Given the description of an element on the screen output the (x, y) to click on. 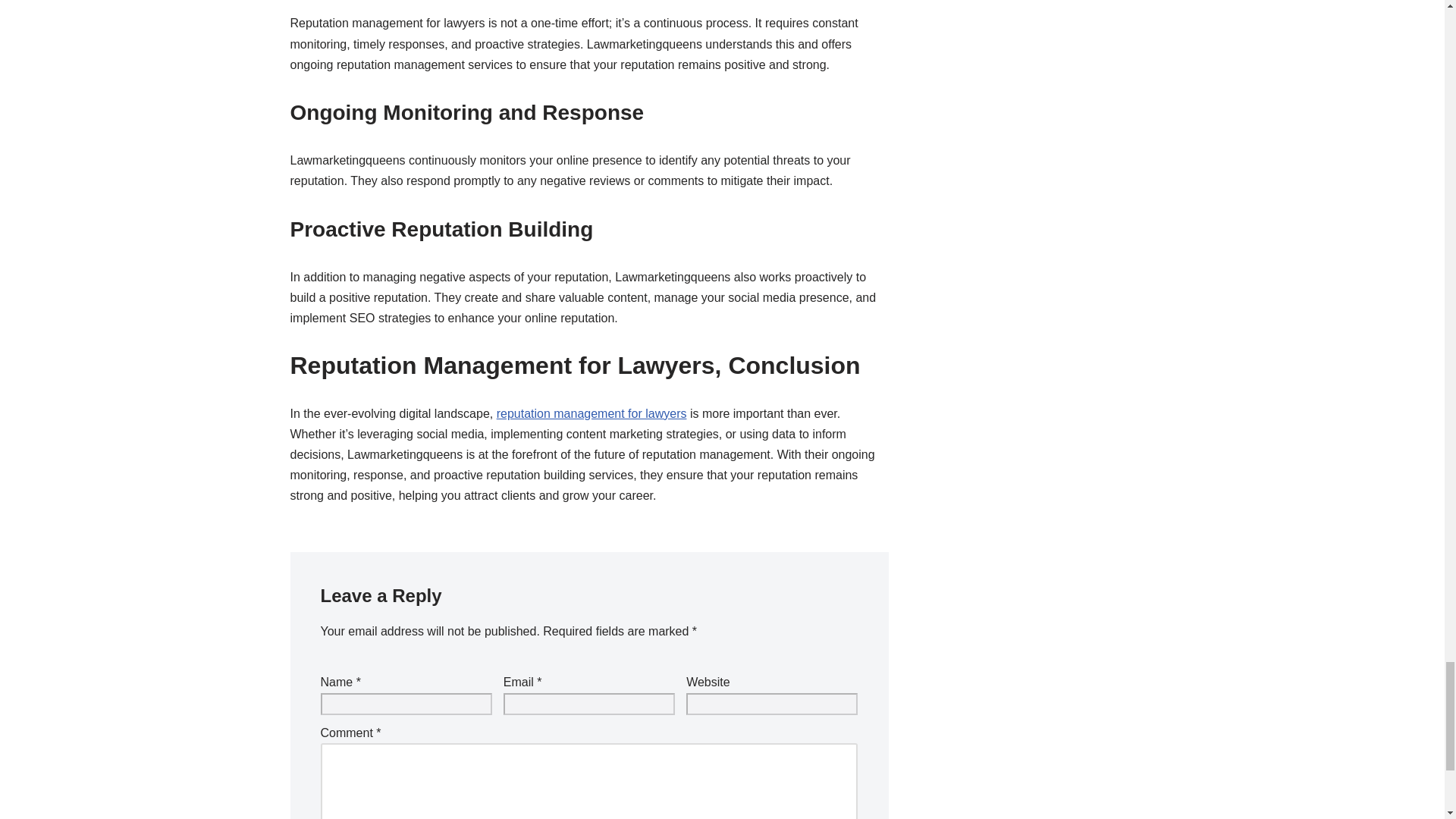
reputation management for lawyers (591, 413)
